Given the description of an element on the screen output the (x, y) to click on. 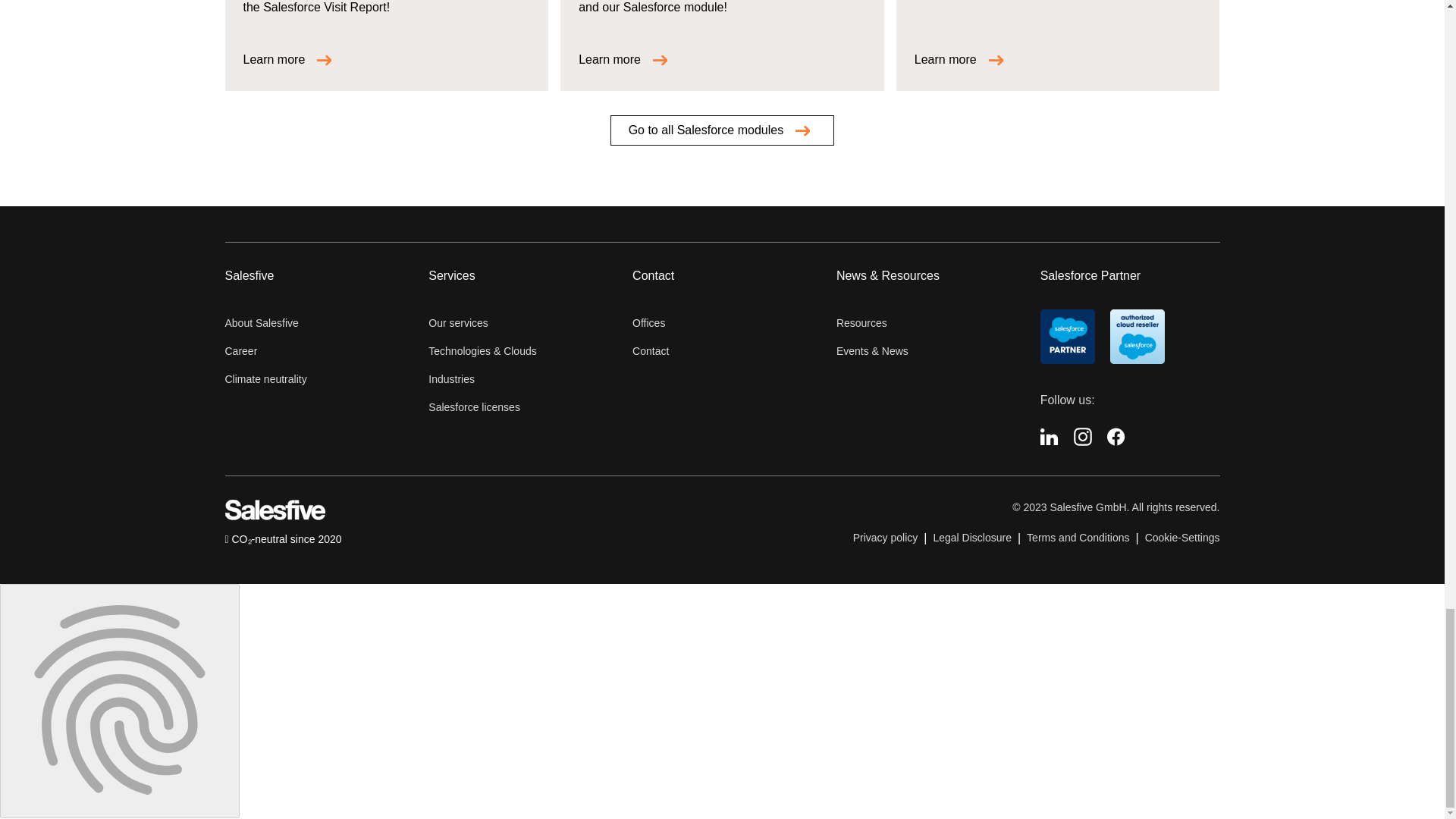
Salesfive (274, 515)
